Given the description of an element on the screen output the (x, y) to click on. 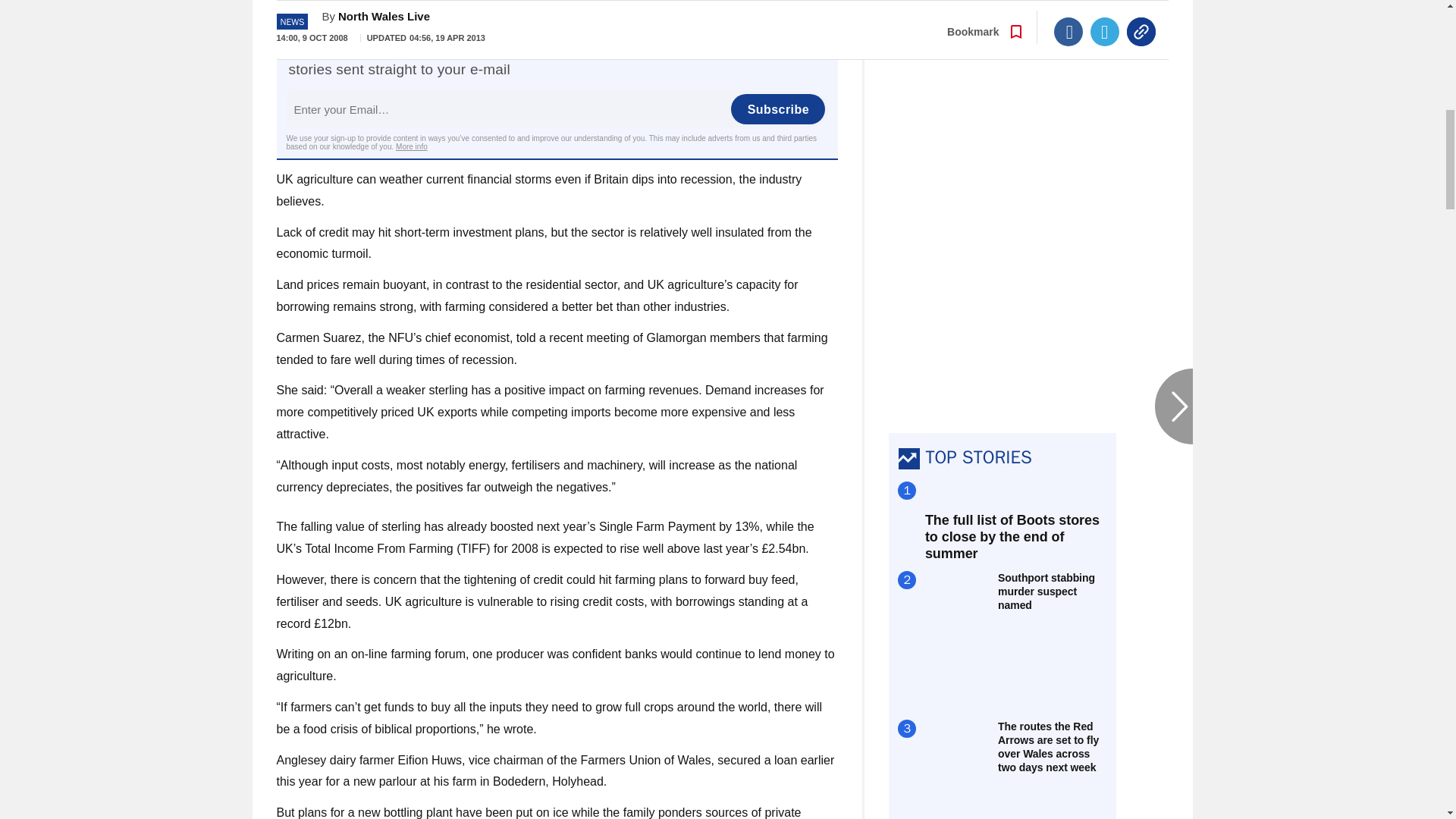
Go (730, 4)
